Given the description of an element on the screen output the (x, y) to click on. 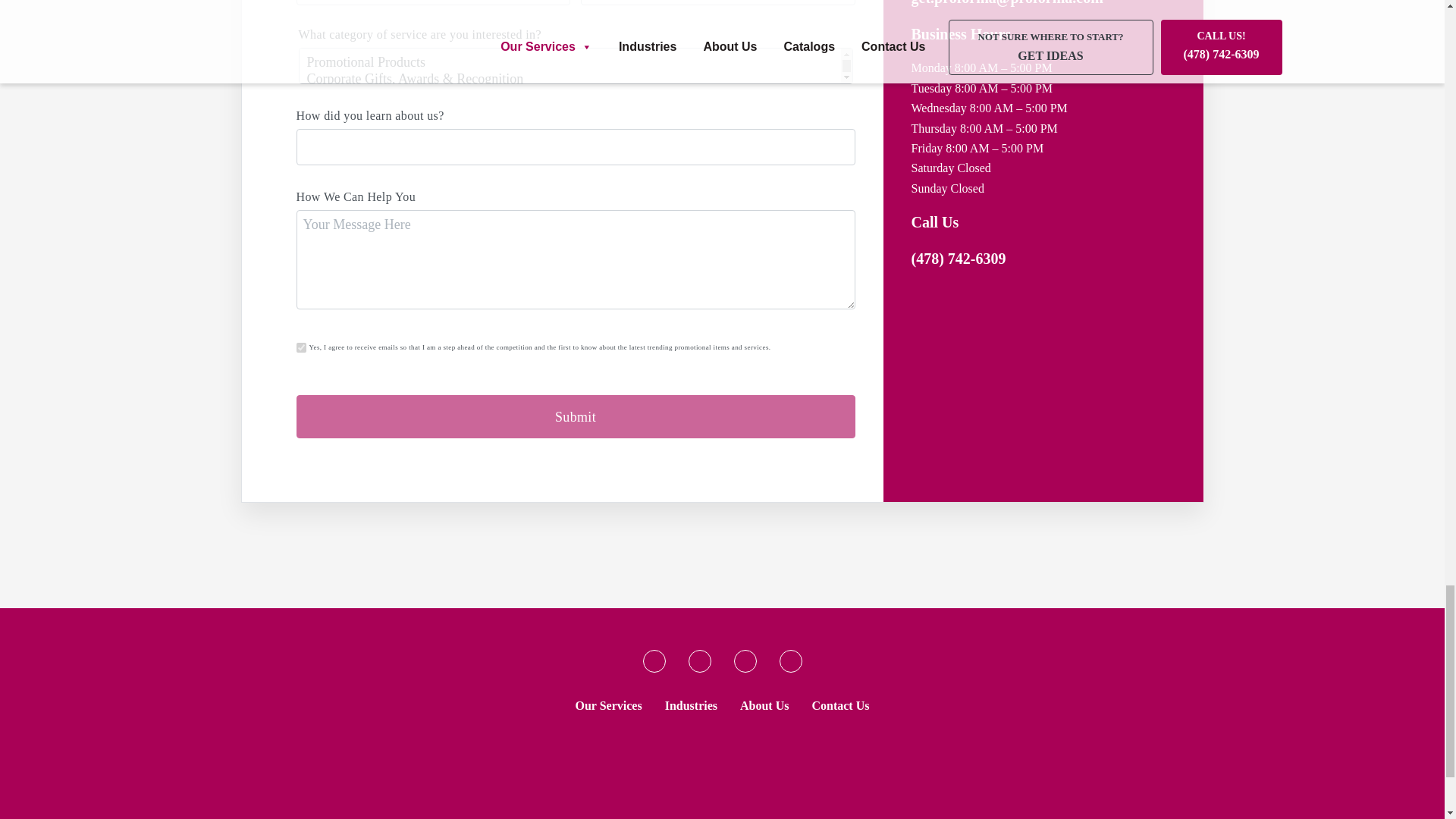
Contact Us (839, 705)
Submit (574, 416)
Our Services (608, 705)
Industries (691, 705)
Submit (574, 416)
About Us (764, 705)
